Given the description of an element on the screen output the (x, y) to click on. 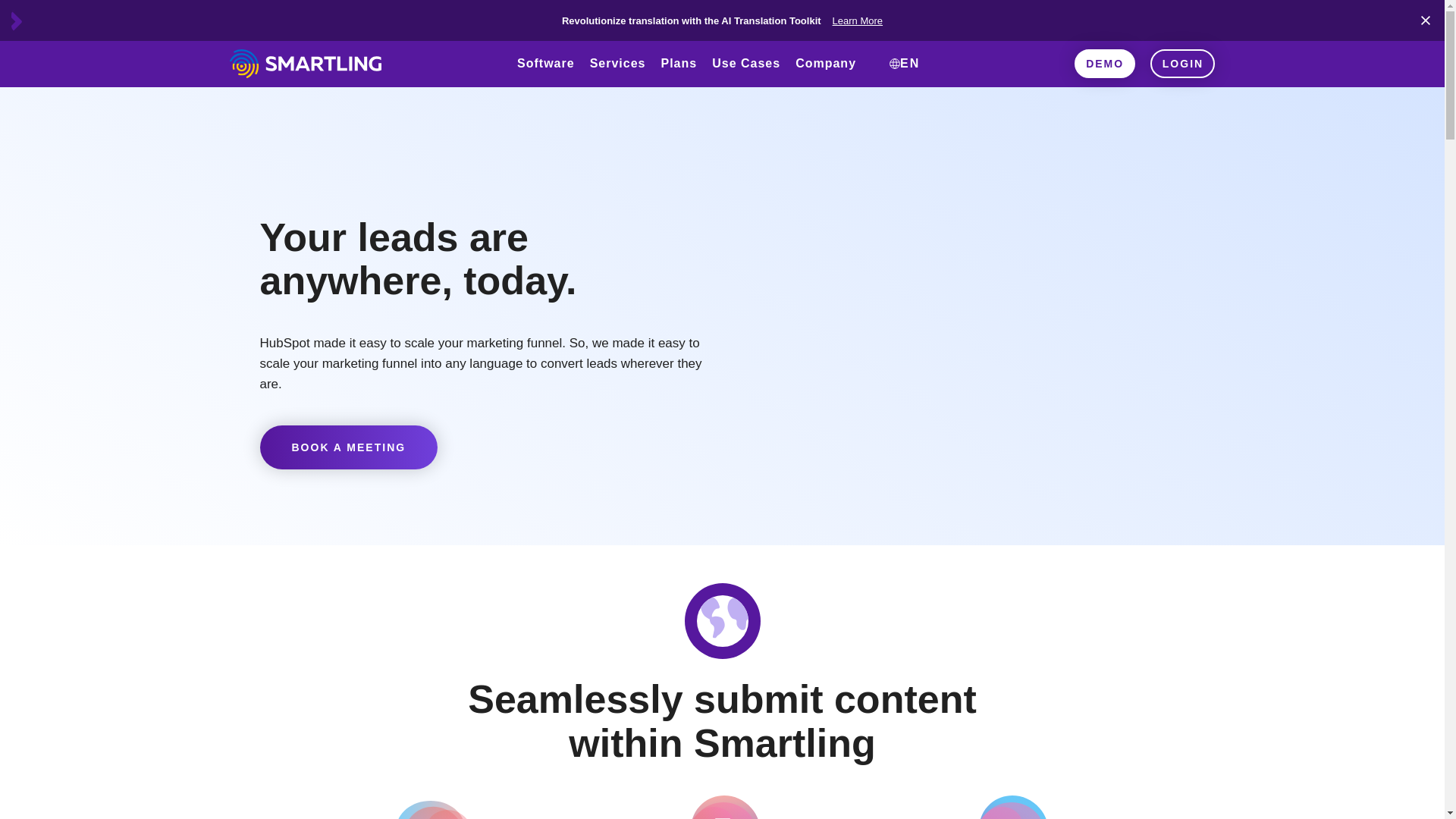
Services (617, 79)
Software (545, 79)
